Given the description of an element on the screen output the (x, y) to click on. 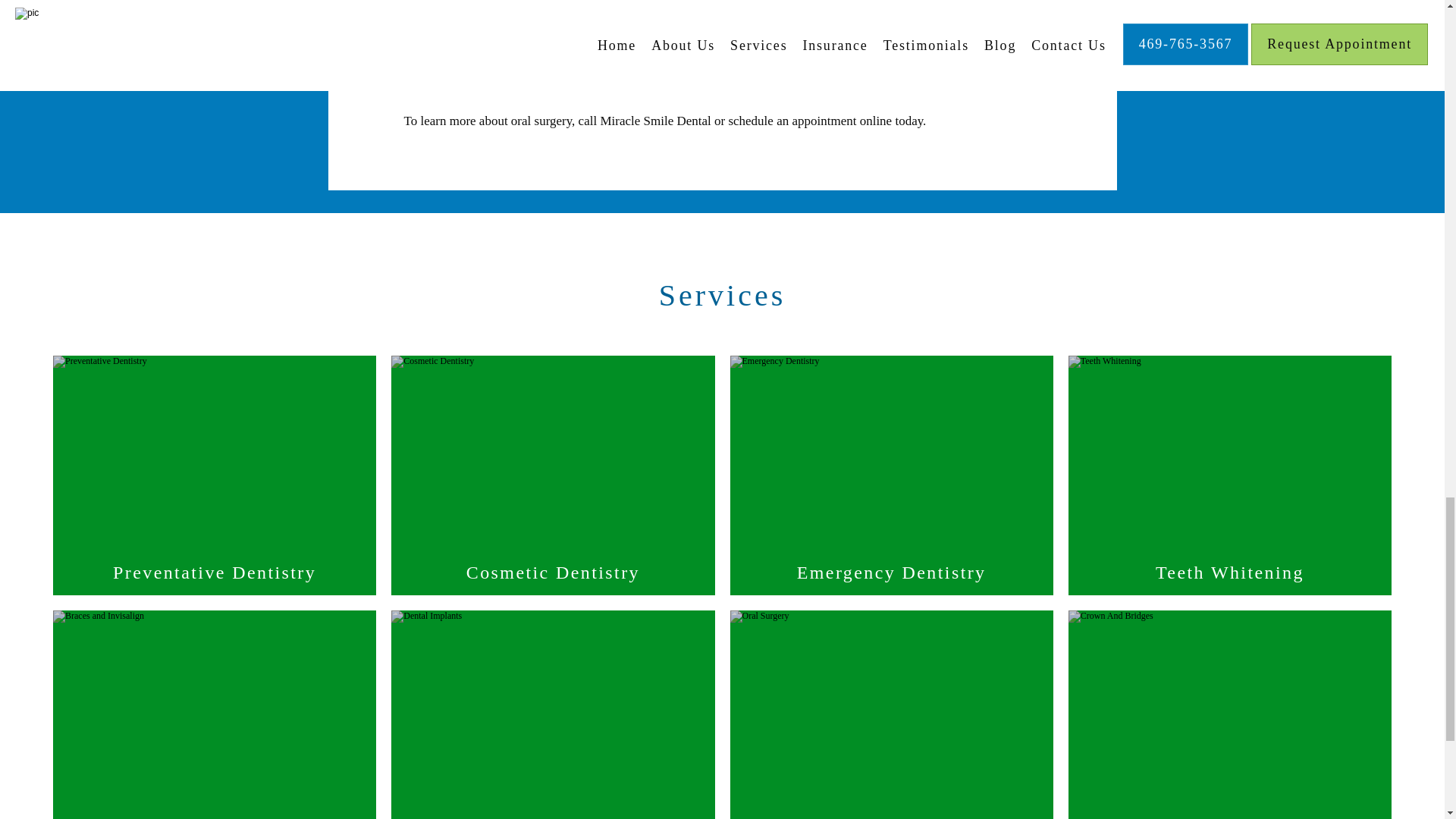
Crown and Bridges (1229, 812)
Preventative Dentistry (213, 572)
Cosmetic Dentistry (552, 572)
Teeth Whitening (1229, 572)
Dental Implants (552, 812)
Braces and Invisalign (213, 812)
Oral Surgery (890, 812)
Emergency Dentistry (890, 572)
